Given the description of an element on the screen output the (x, y) to click on. 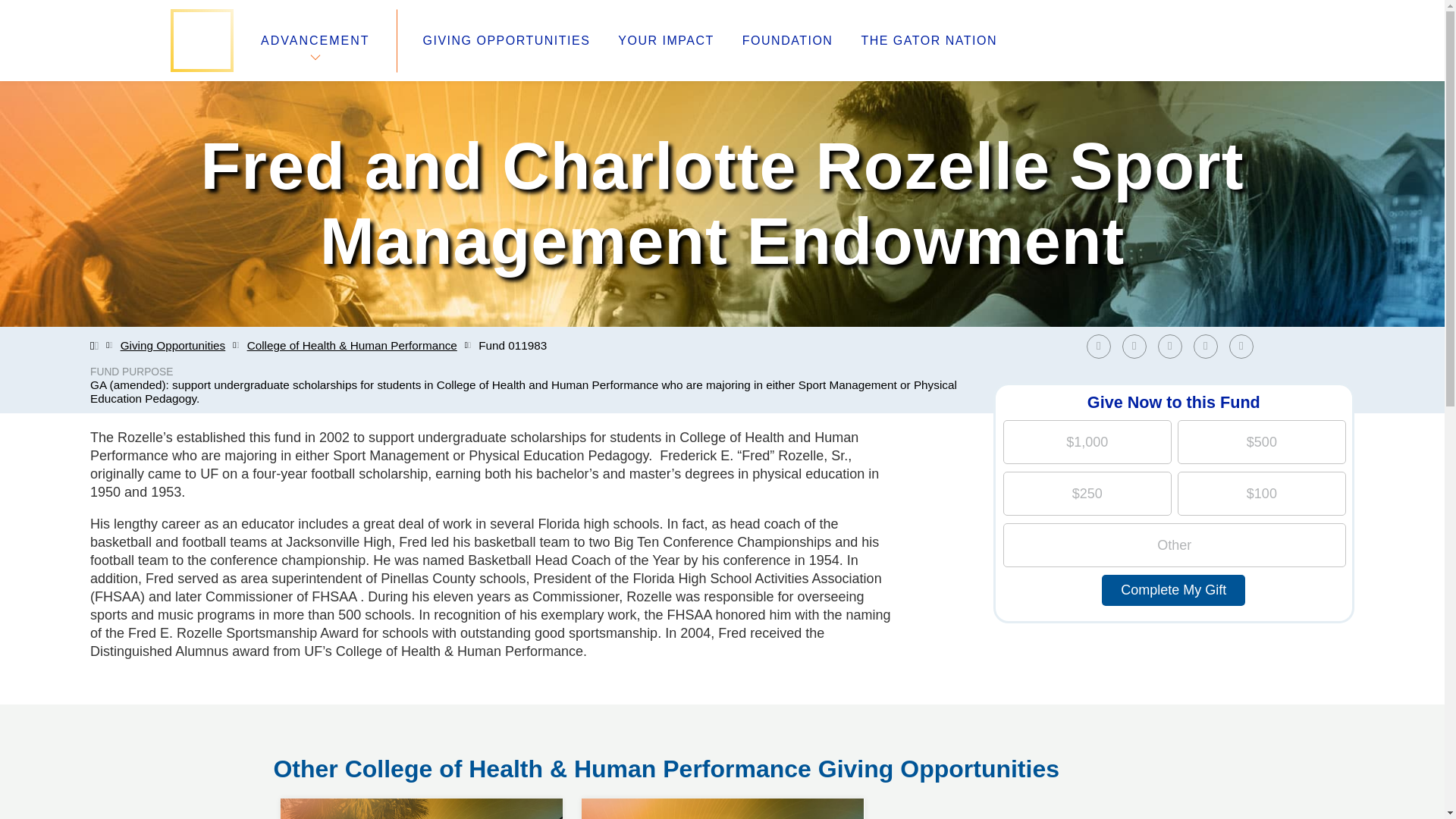
University of Florida (840, 668)
THE GATOR NATION (928, 40)
Disclosures (537, 723)
FOUNDATION (787, 40)
Share on Reddit (1205, 346)
Contact Us (306, 723)
Advancement Toolkit (565, 686)
Share on Facebook (1102, 345)
Complete My Gift (1173, 590)
GIVING OPPORTUNITIES (507, 40)
Foundation Board (327, 704)
Share on LinkedIn (1169, 346)
Share by Email (1244, 345)
Share on LinkedIn (1173, 345)
